Given the description of an element on the screen output the (x, y) to click on. 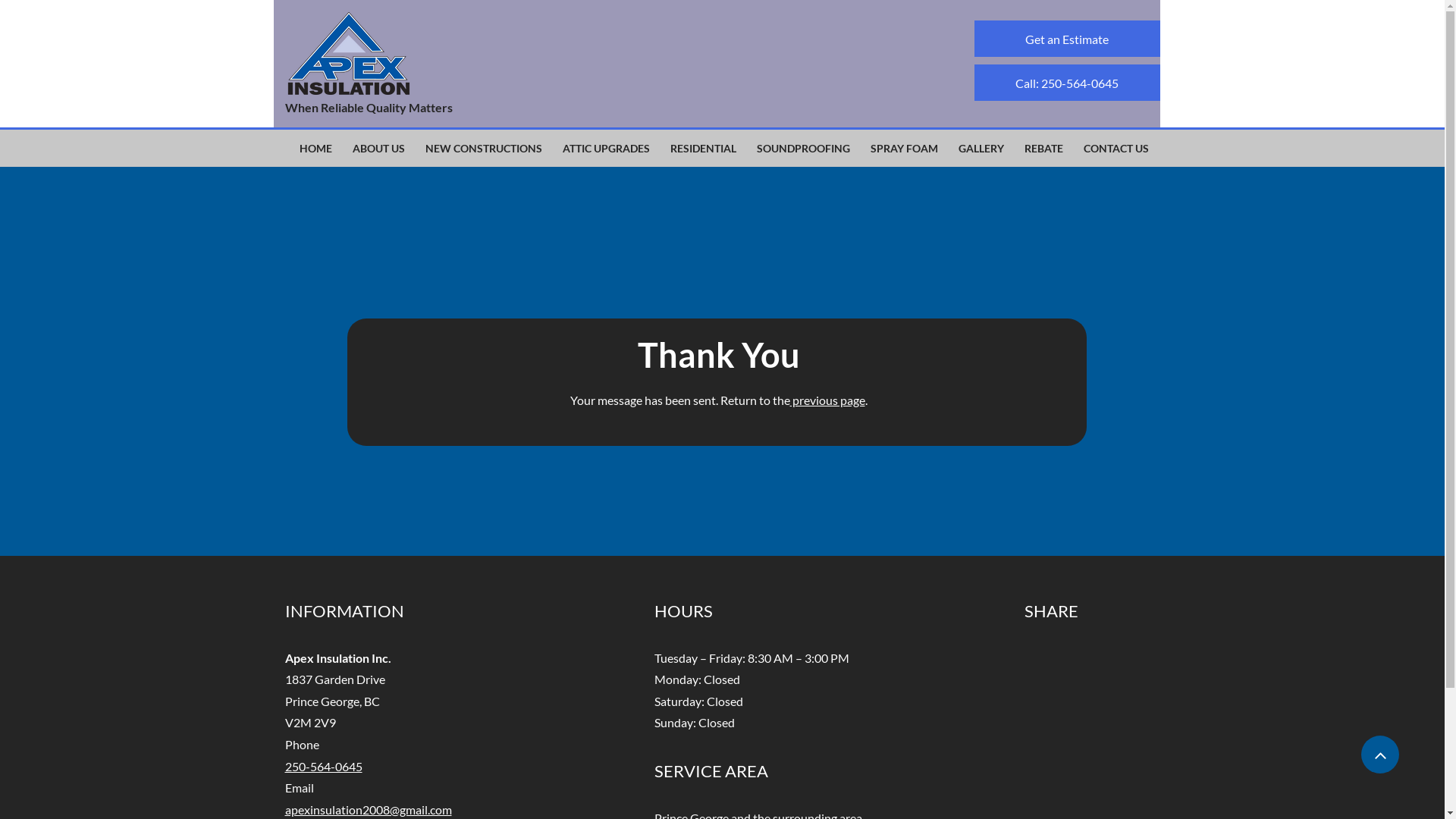
ABOUT US Element type: text (378, 148)
GALLERY Element type: text (981, 148)
apexinsulation2008@gmail.com Element type: text (368, 809)
Embedded Content Element type: hover (1057, 688)
RESIDENTIAL Element type: text (703, 148)
SPRAY FOAM Element type: text (904, 148)
REBATE Element type: text (1043, 148)
previous page Element type: text (827, 399)
HOME Element type: text (315, 148)
Call: 250-564-0645 Element type: text (1066, 82)
SOUNDPROOFING Element type: text (803, 148)
Get an Estimate Element type: text (1066, 38)
ATTIC UPGRADES Element type: text (606, 148)
Embedded Content Element type: hover (1054, 666)
CONTACT US Element type: text (1116, 148)
250-564-0645 Element type: text (323, 766)
NEW CONSTRUCTIONS Element type: text (483, 148)
